Given the description of an element on the screen output the (x, y) to click on. 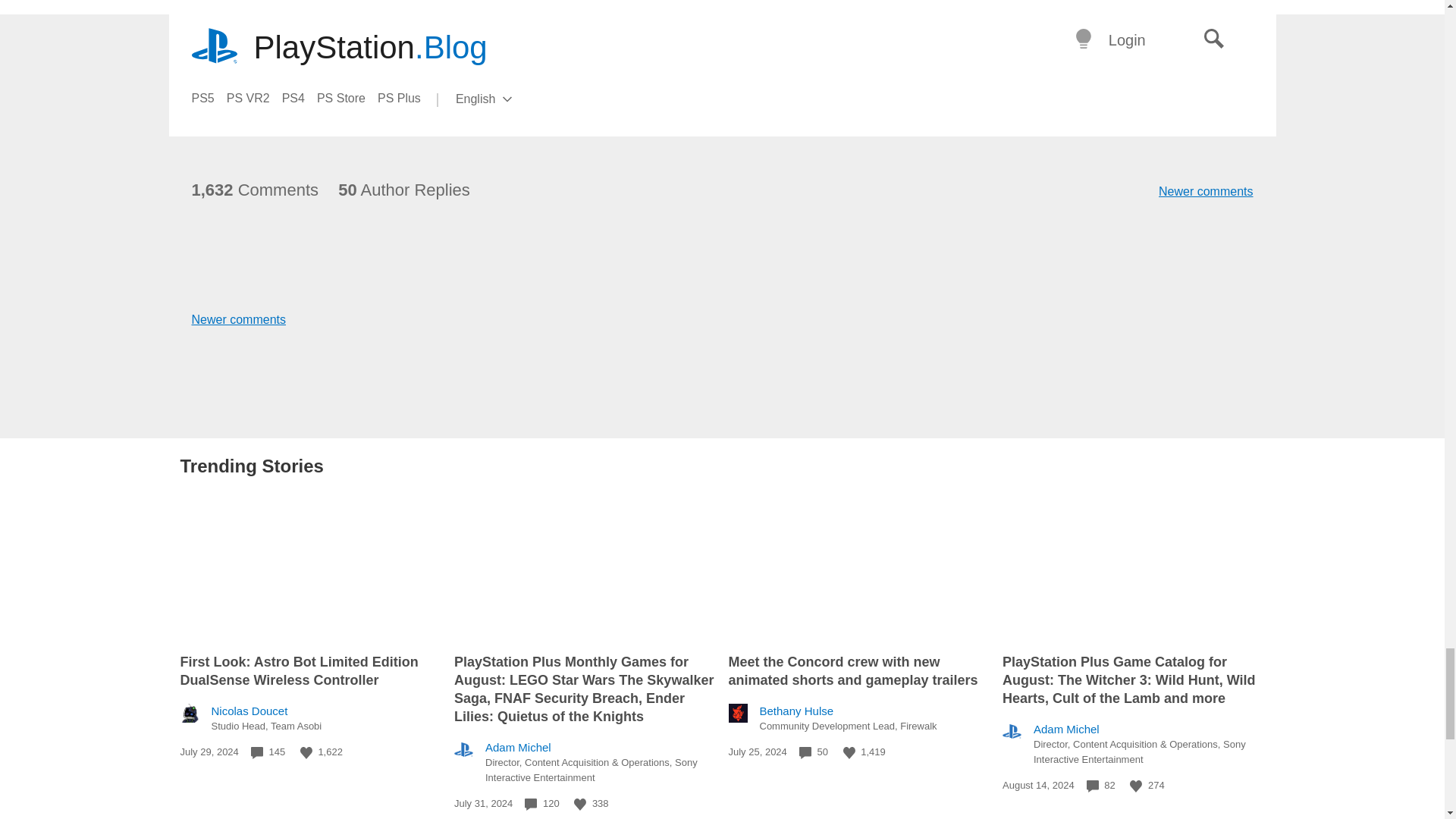
Like this (1135, 786)
Like this (579, 804)
Like this (849, 752)
Like this (306, 752)
